Given the description of an element on the screen output the (x, y) to click on. 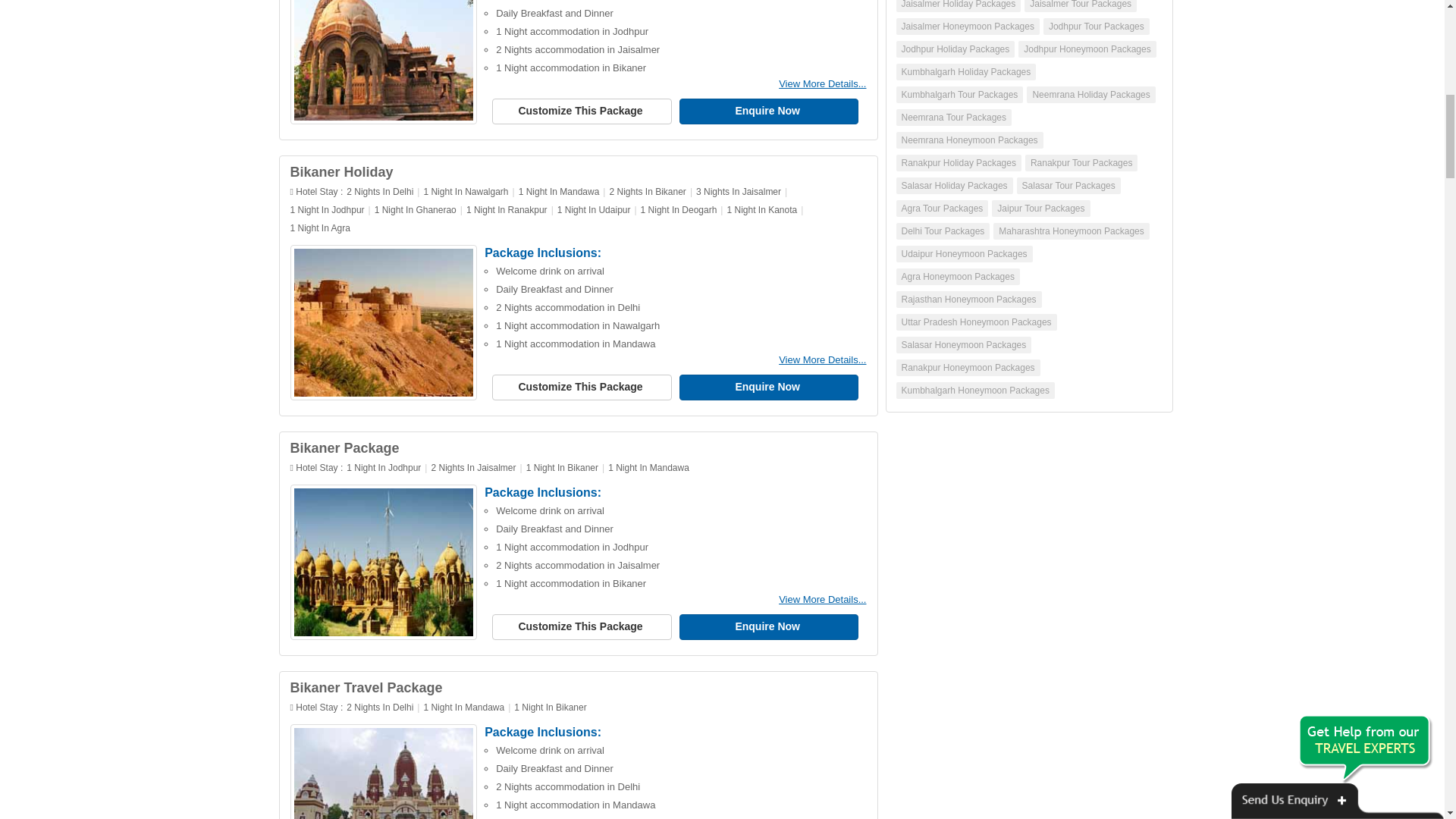
Enquire Now (769, 626)
Bikaner Travel Package (365, 687)
Enquire Now (769, 111)
Customize This Package (581, 387)
Customize This Package (581, 111)
View More Details... (822, 599)
Customize This Package (581, 626)
Enquire Now (769, 387)
View More Details... (822, 359)
Bikaner Package (343, 447)
View More Details... (822, 83)
Bikaner Holiday (341, 171)
